Given the description of an element on the screen output the (x, y) to click on. 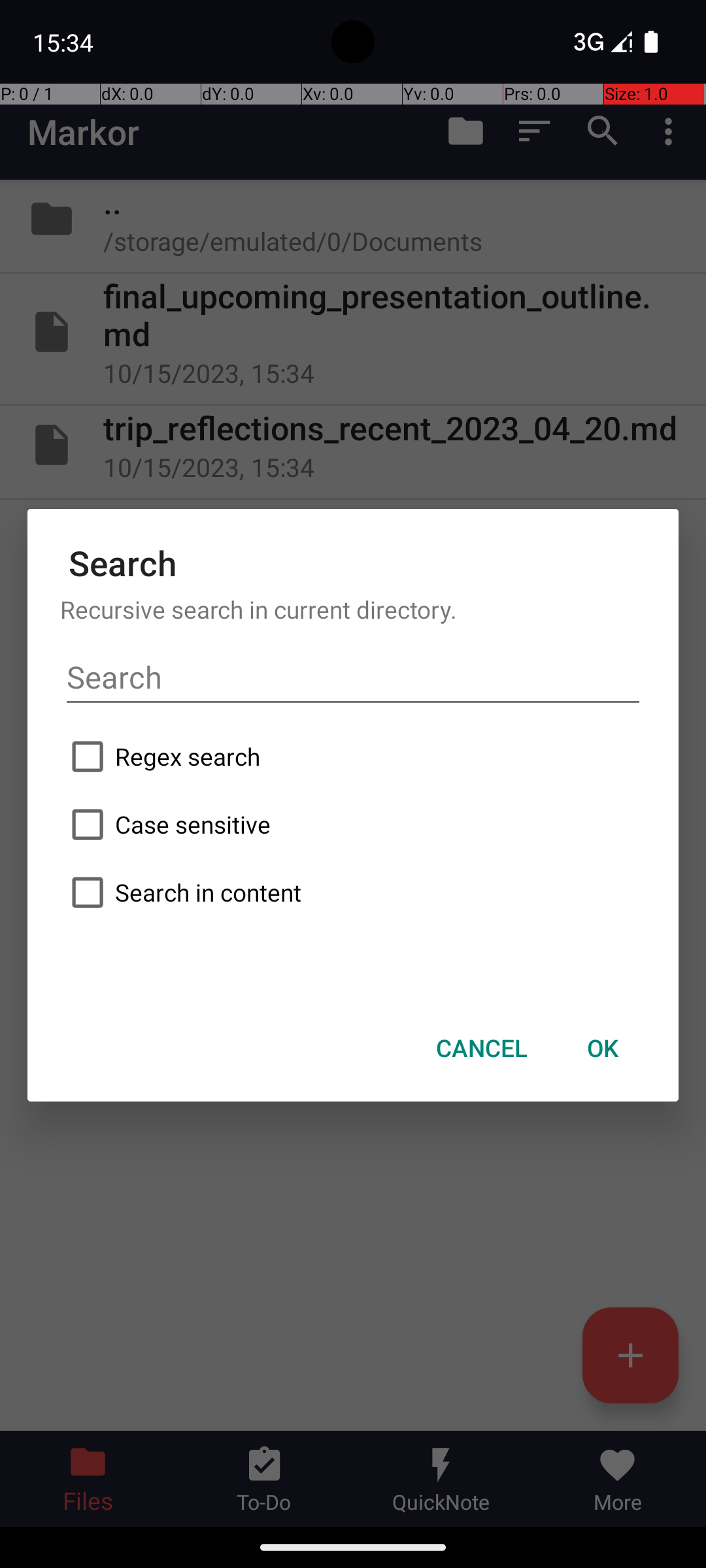
Recursive search in current directory. Element type: android.widget.TextView (352, 608)
Regex search Element type: android.widget.CheckBox (352, 756)
Case sensitive Element type: android.widget.CheckBox (352, 824)
Search in content Element type: android.widget.CheckBox (352, 892)
